Given the description of an element on the screen output the (x, y) to click on. 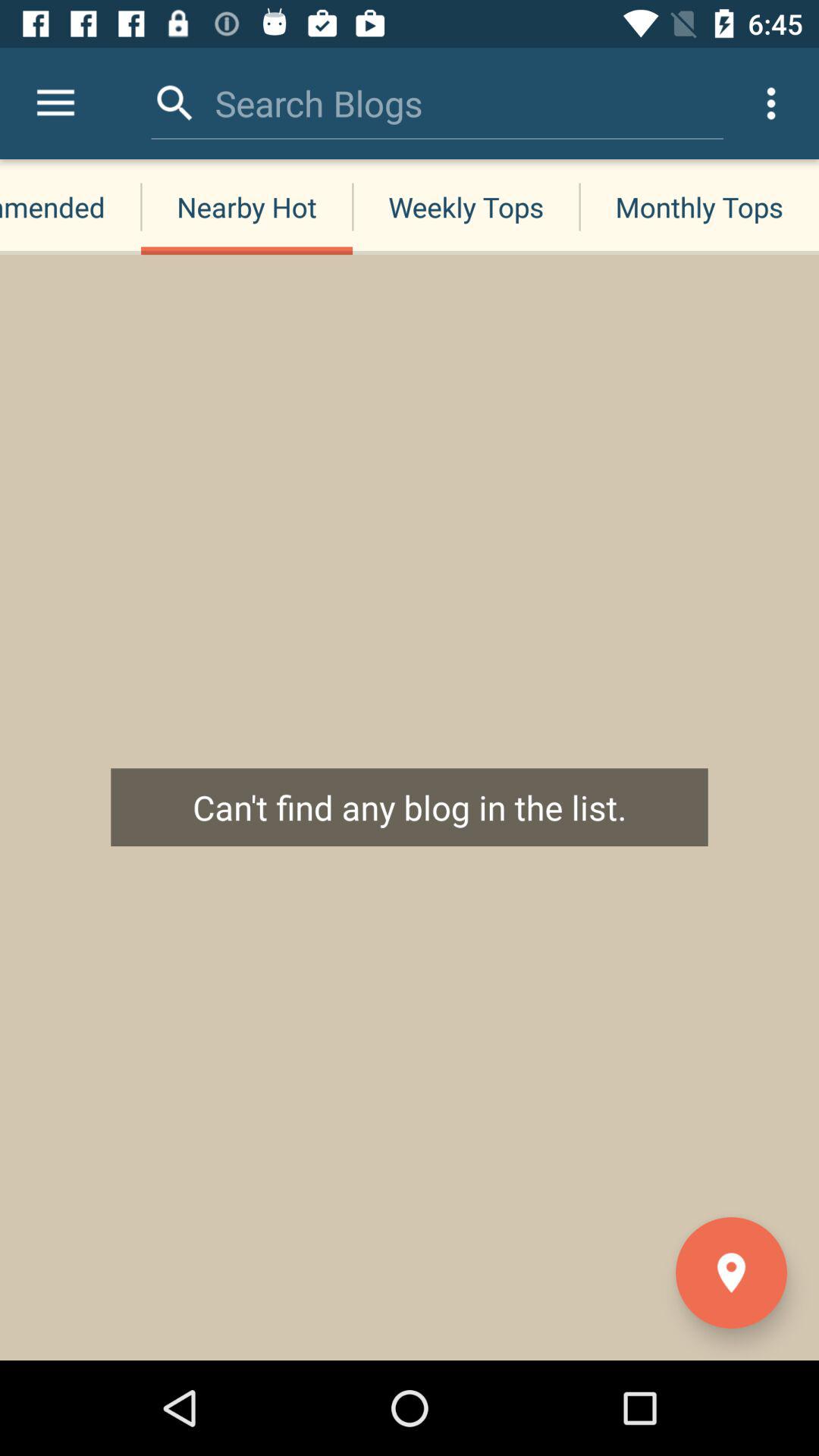
turn off the monthly tops (699, 206)
